Given the description of an element on the screen output the (x, y) to click on. 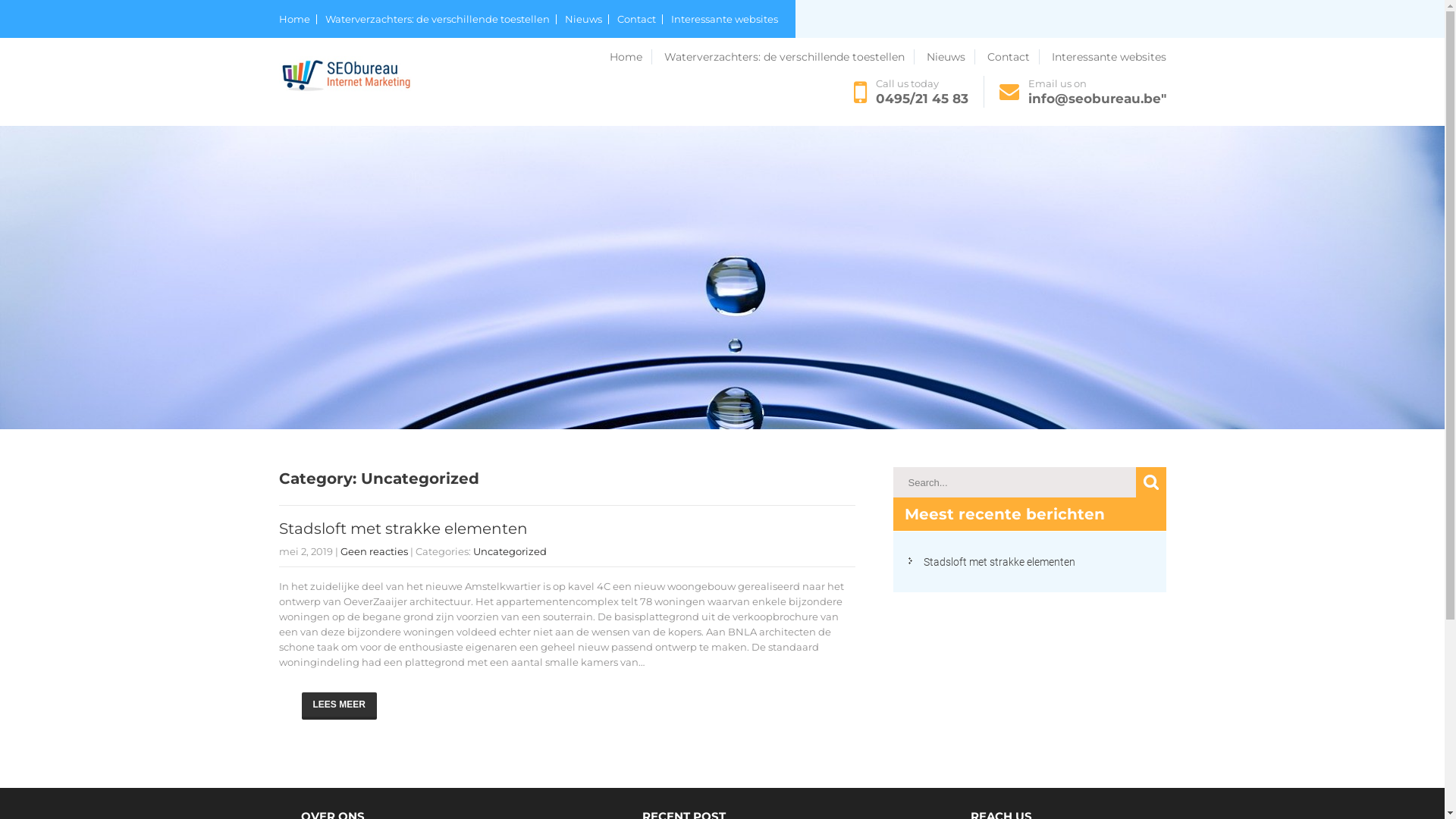
Nieuws Element type: text (586, 19)
Waterverzachters: de verschillende toestellen Element type: text (789, 56)
LEES MEER Element type: text (338, 705)
Home Element type: text (297, 19)
Nieuws Element type: text (950, 56)
Contact Element type: text (639, 19)
info@seobureau.be" Element type: text (1097, 98)
Stadsloft met strakke elementen Element type: text (403, 528)
Contact Element type: text (1013, 56)
Uncategorized Element type: text (509, 551)
Geen reacties Element type: text (373, 551)
Interessante websites Element type: text (723, 19)
Stadsloft met strakke elementen Element type: text (999, 561)
Home Element type: text (630, 56)
Interessante websites Element type: text (1108, 56)
Waterverzachters: de verschillende toestellen Element type: text (439, 19)
